Given the description of an element on the screen output the (x, y) to click on. 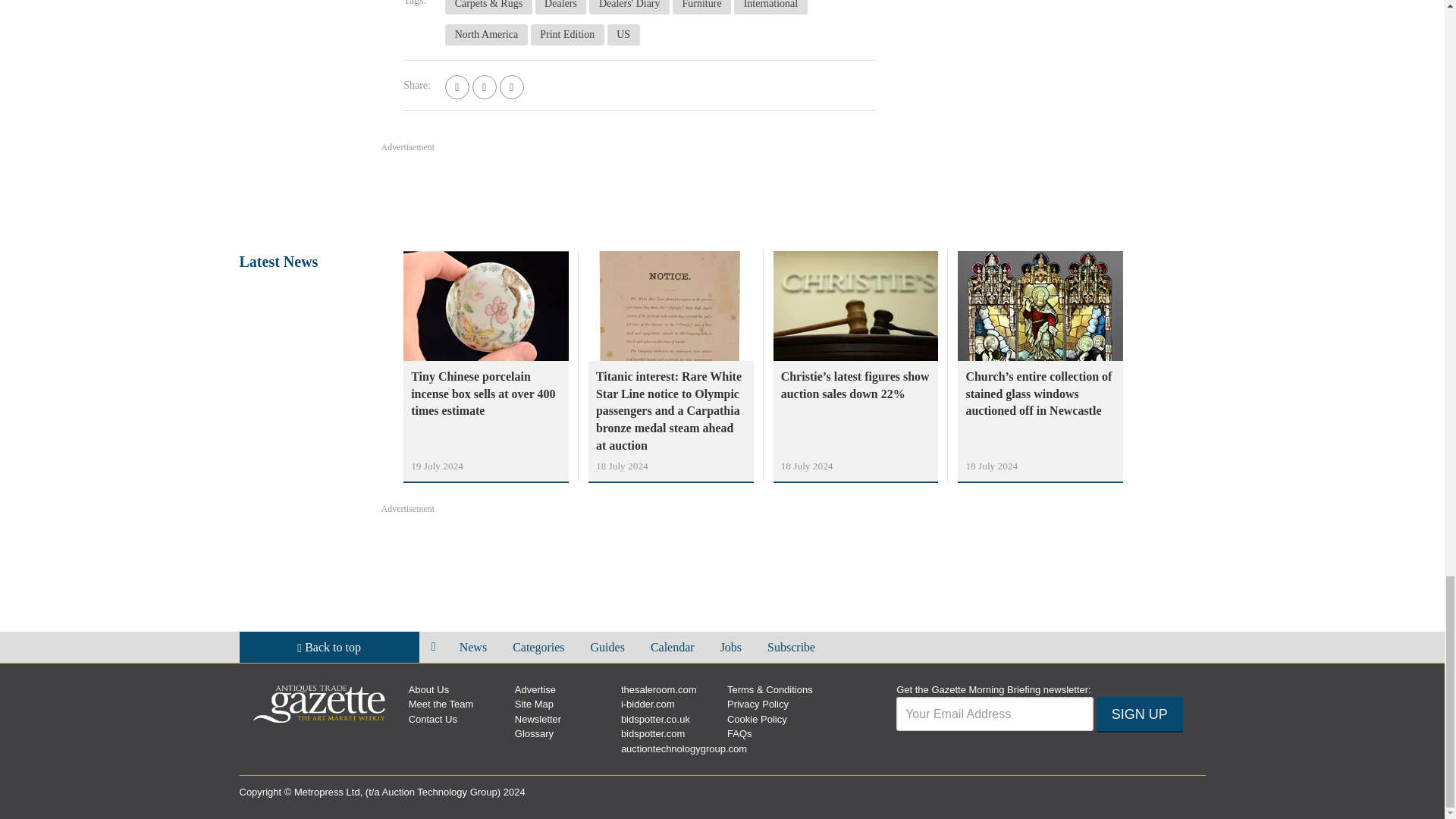
3rd party ad content (721, 196)
3rd party ad content (1091, 63)
